Given the description of an element on the screen output the (x, y) to click on. 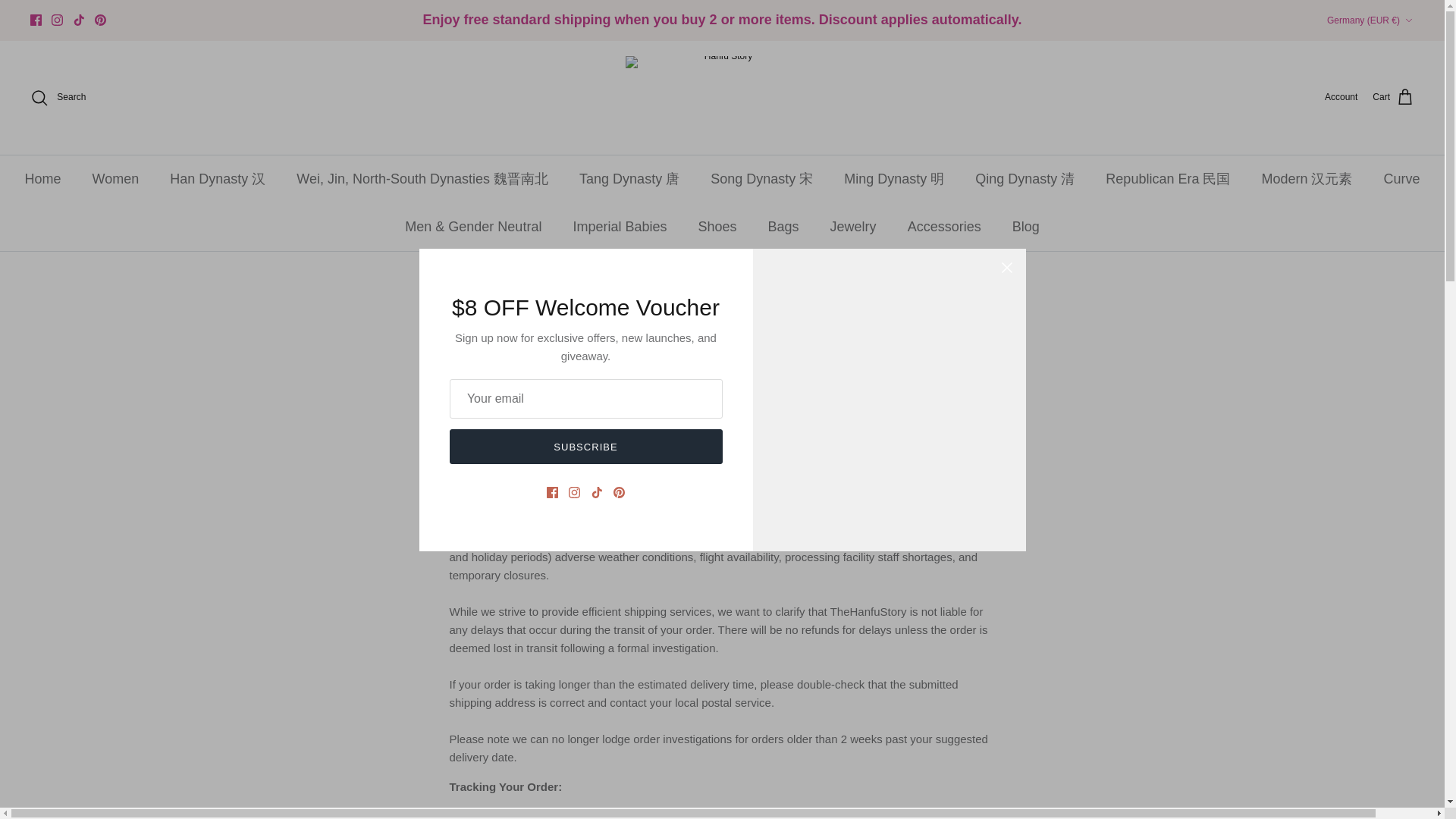
Pinterest (100, 19)
Down (1408, 20)
Facebook (36, 19)
Instagram (56, 19)
Instagram (56, 19)
Hanfu Story (722, 97)
Pinterest (100, 19)
Facebook (36, 19)
